Given the description of an element on the screen output the (x, y) to click on. 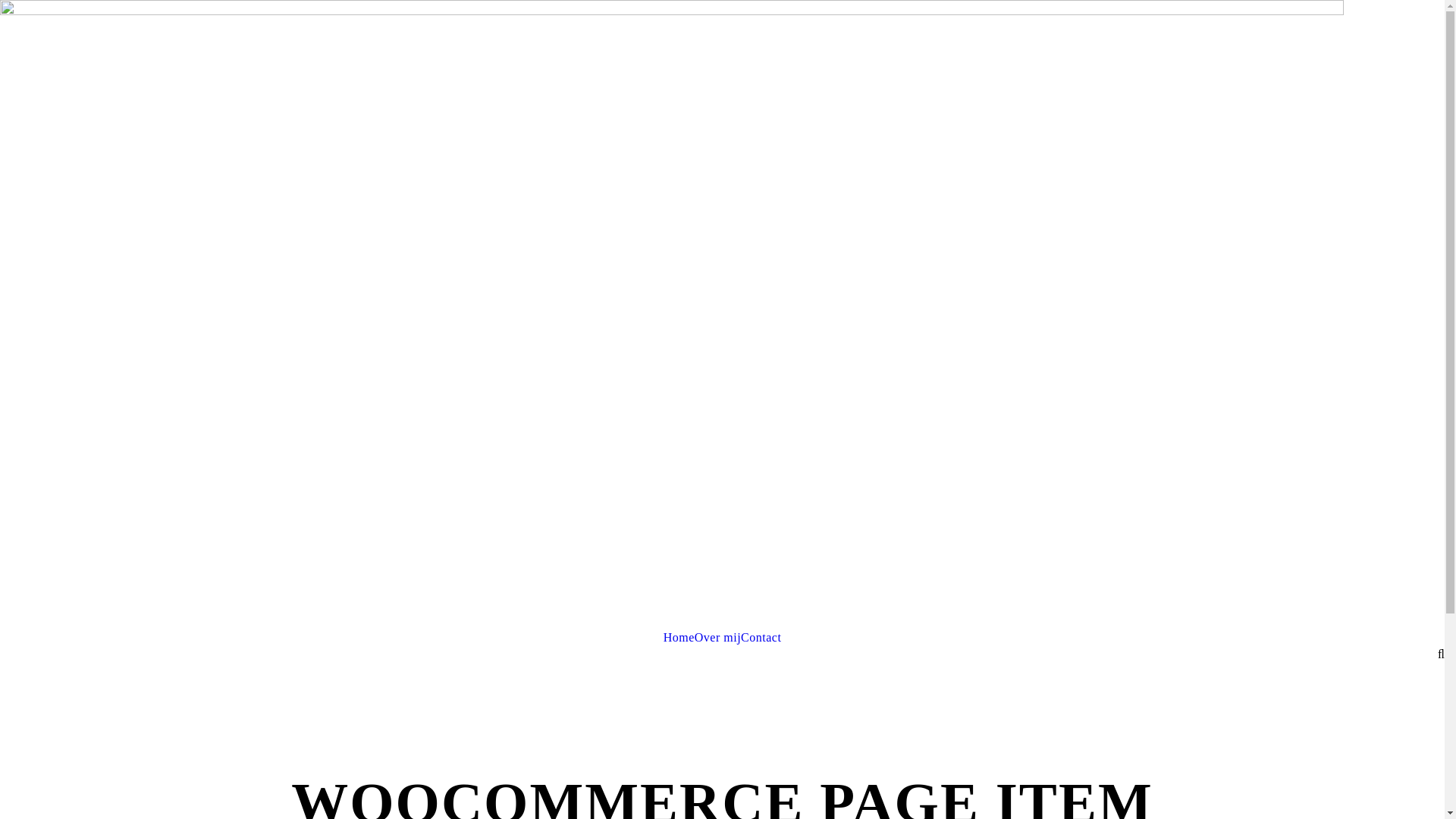
INSTAGRAM Element type: hover (671, 313)
Home Element type: text (678, 637)
Over mij Element type: text (717, 637)
Contact Element type: text (760, 637)
